Given the description of an element on the screen output the (x, y) to click on. 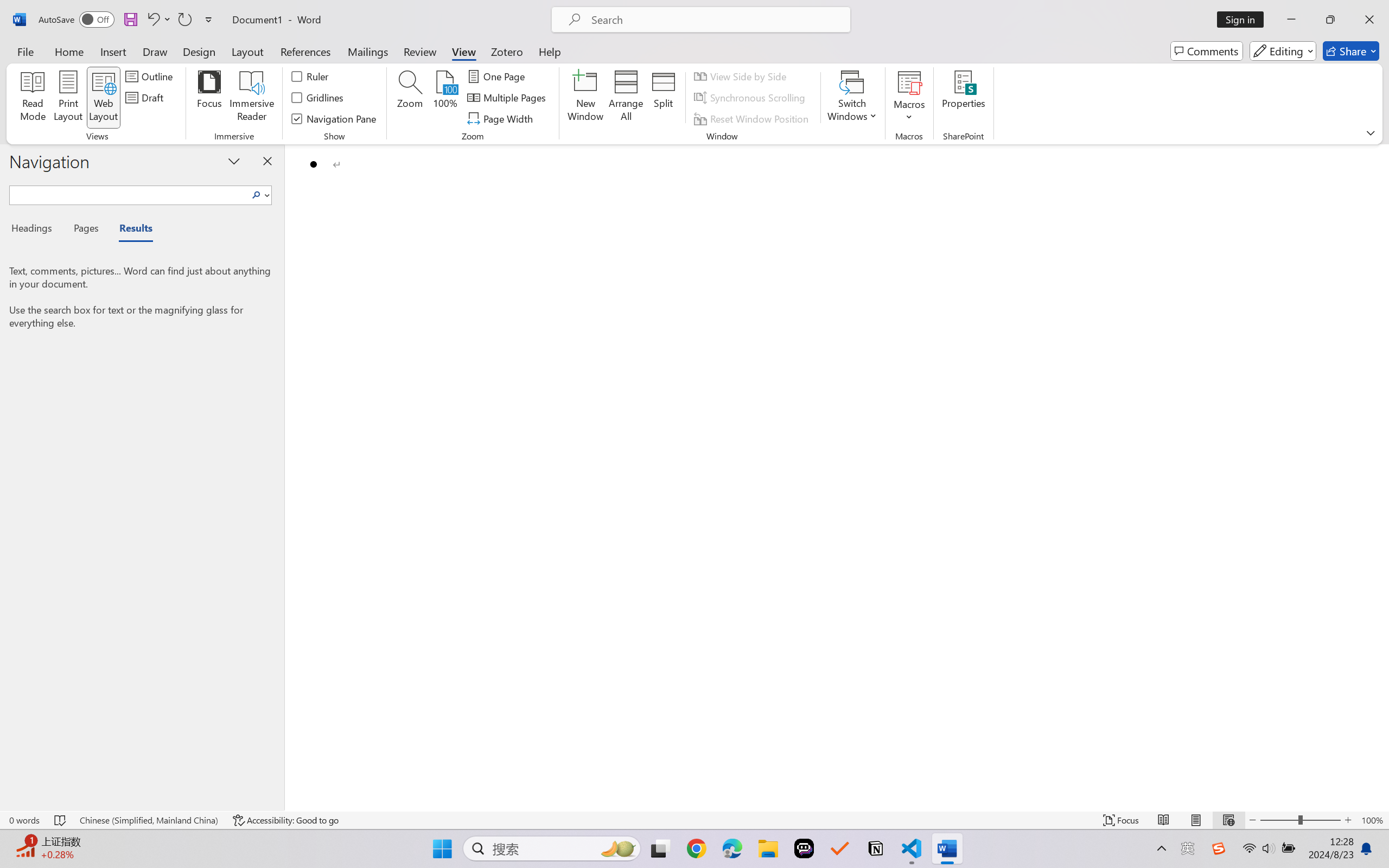
Navigation Pane (334, 118)
Zoom... (409, 97)
Switch Windows (852, 97)
Undo Bullet Default (152, 19)
Repeat Bullet Default (184, 19)
Sign in (1244, 19)
View Macros (909, 81)
